Given the description of an element on the screen output the (x, y) to click on. 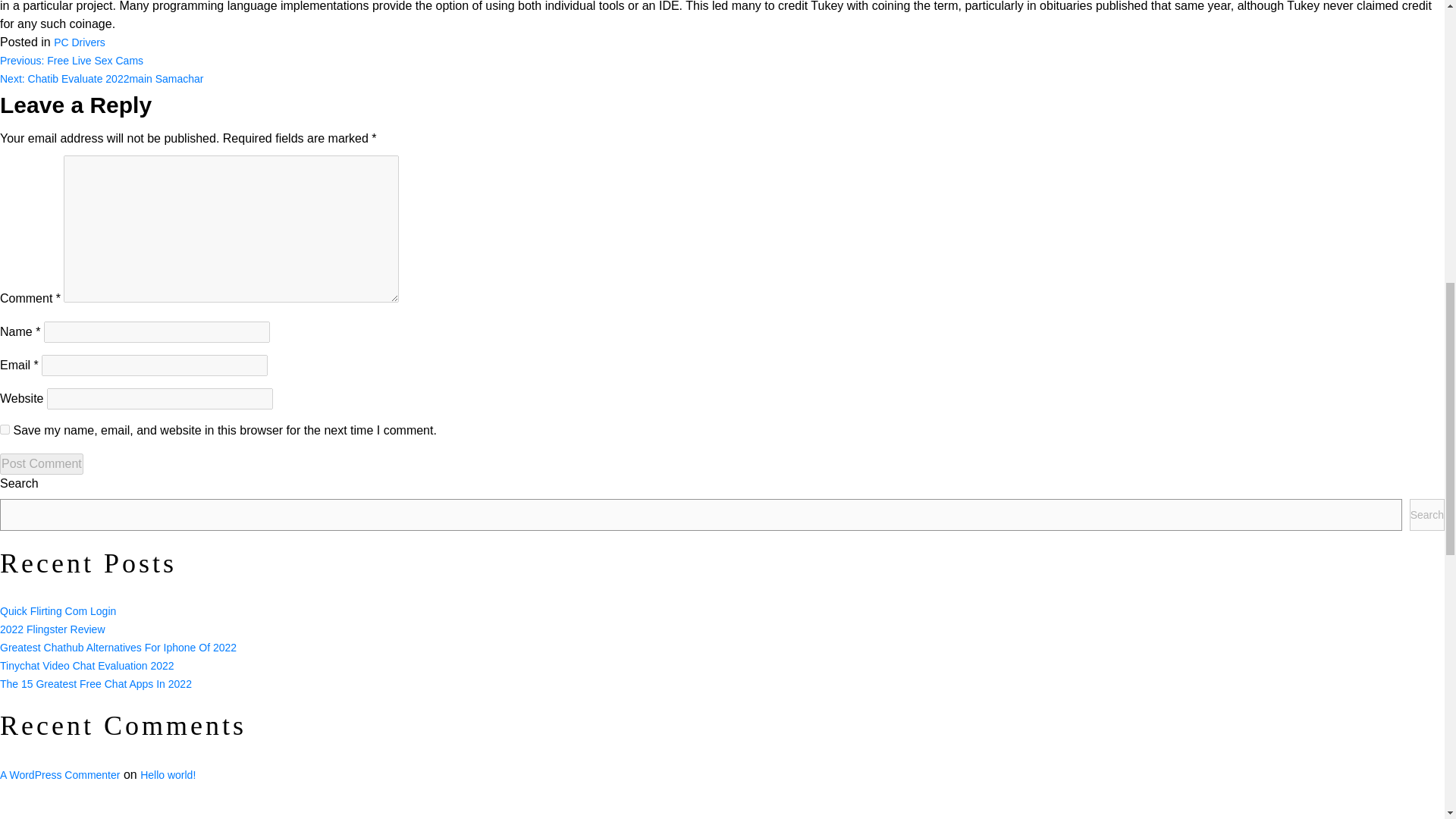
A WordPress Commenter (59, 775)
Post Comment (41, 464)
Quick Flirting Com Login (58, 611)
PC Drivers (78, 42)
Post Comment (41, 464)
yes (5, 429)
Greatest Chathub Alternatives For Iphone Of 2022 (117, 647)
Hello world! (167, 775)
Tinychat Video Chat Evaluation 2022 (87, 665)
Next: Chatib Evaluate 2022main Samachar (101, 78)
